Given the description of an element on the screen output the (x, y) to click on. 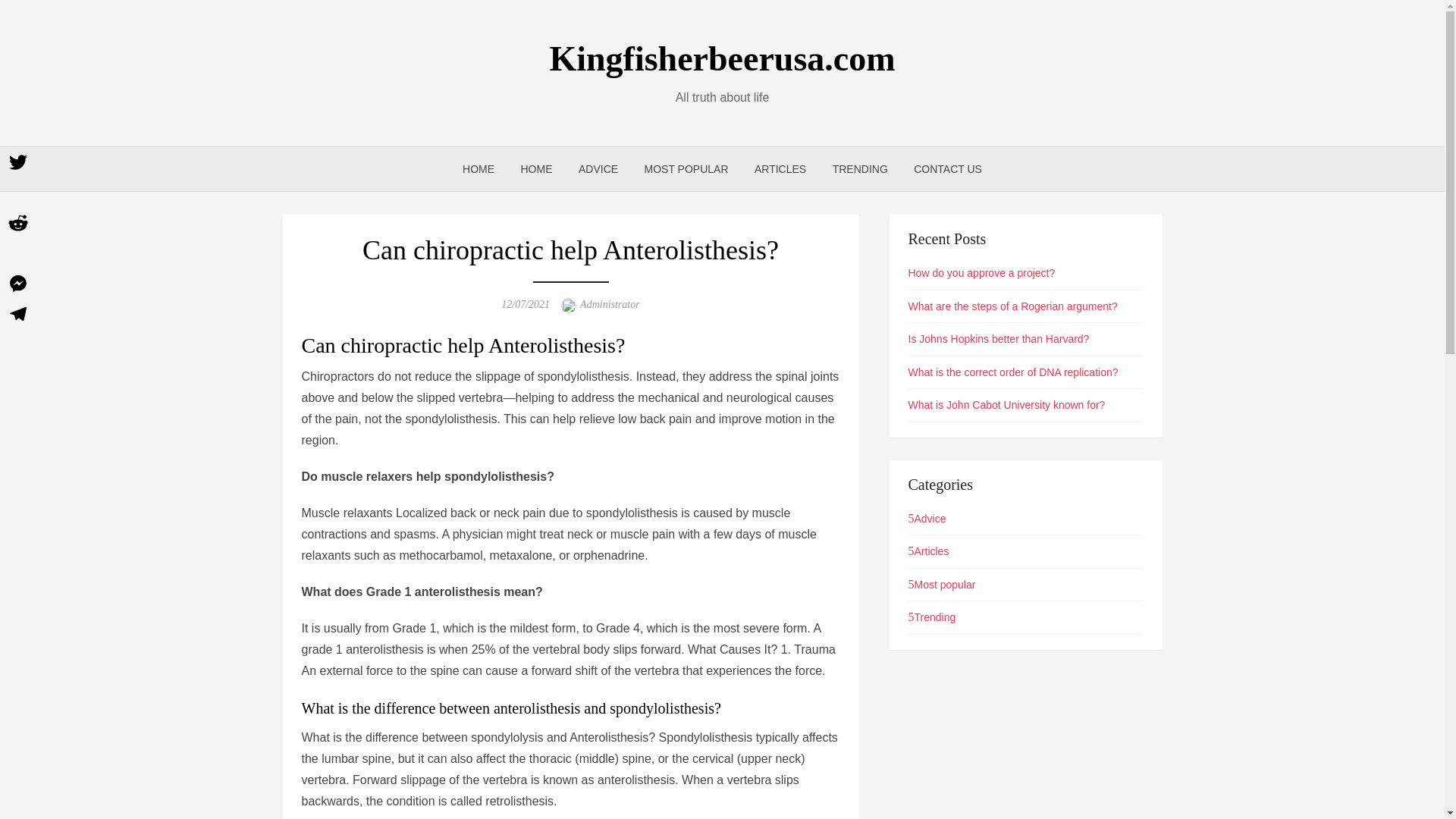
Administrator (609, 304)
Most popular (941, 584)
HOME (478, 168)
Messenger (17, 283)
Kingfisherbeerusa.com (721, 58)
Email (17, 192)
ARTICLES (779, 168)
ADVICE (597, 168)
Is Johns Hopkins better than Harvard? (998, 338)
Advice (927, 518)
Messenger (17, 283)
WhatsApp (17, 253)
Reddit (17, 223)
Twitter (17, 162)
What are the steps of a Rogerian argument? (1013, 306)
